Given the description of an element on the screen output the (x, y) to click on. 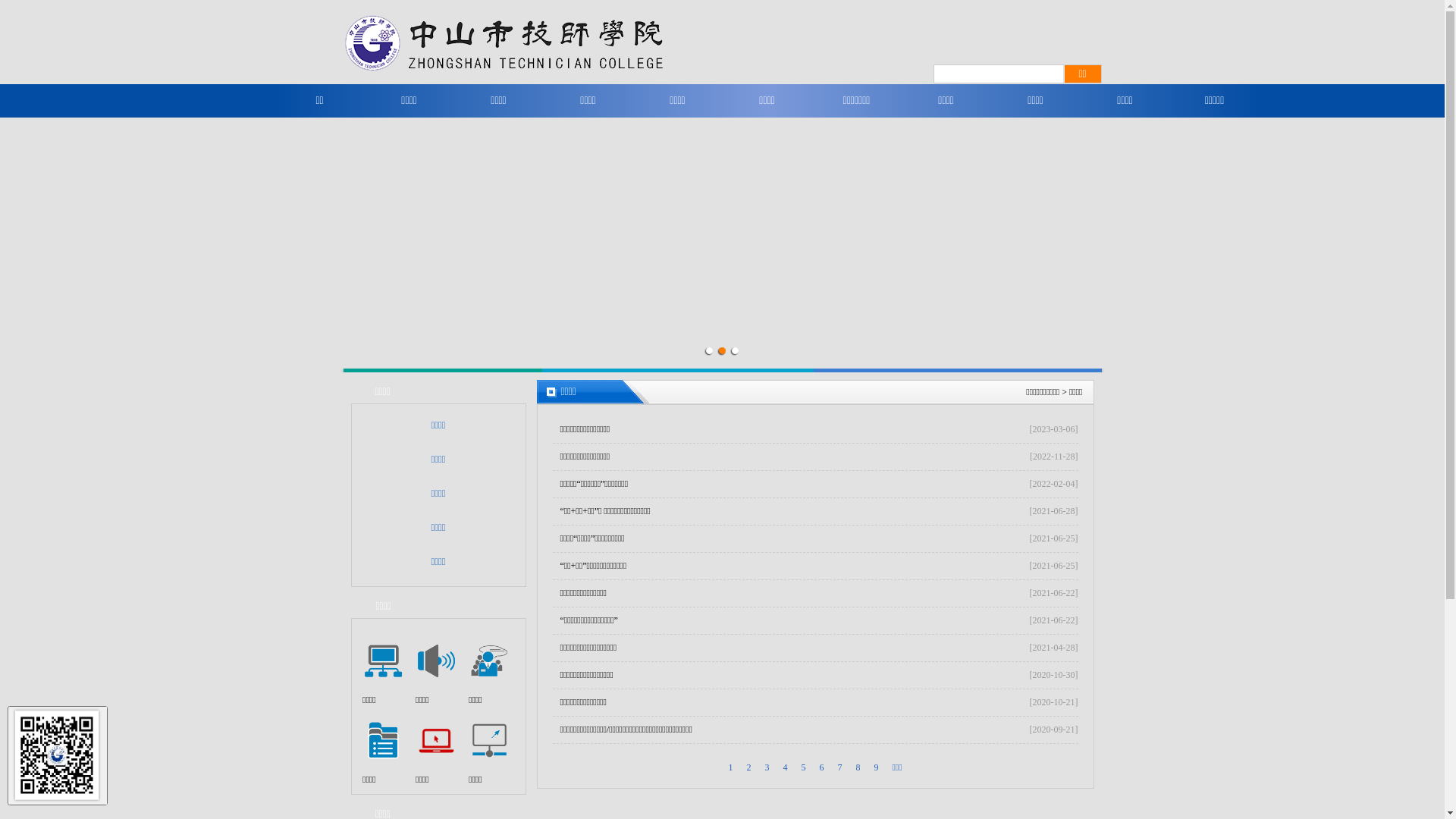
4 Element type: text (784, 767)
6 Element type: text (820, 767)
2 Element type: text (748, 767)
5 Element type: text (802, 767)
7 Element type: text (839, 767)
3 Element type: text (734, 350)
2 Element type: text (722, 350)
1 Element type: text (729, 767)
1 Element type: text (709, 350)
3 Element type: text (766, 767)
8 Element type: text (857, 767)
9 Element type: text (875, 767)
